Given the description of an element on the screen output the (x, y) to click on. 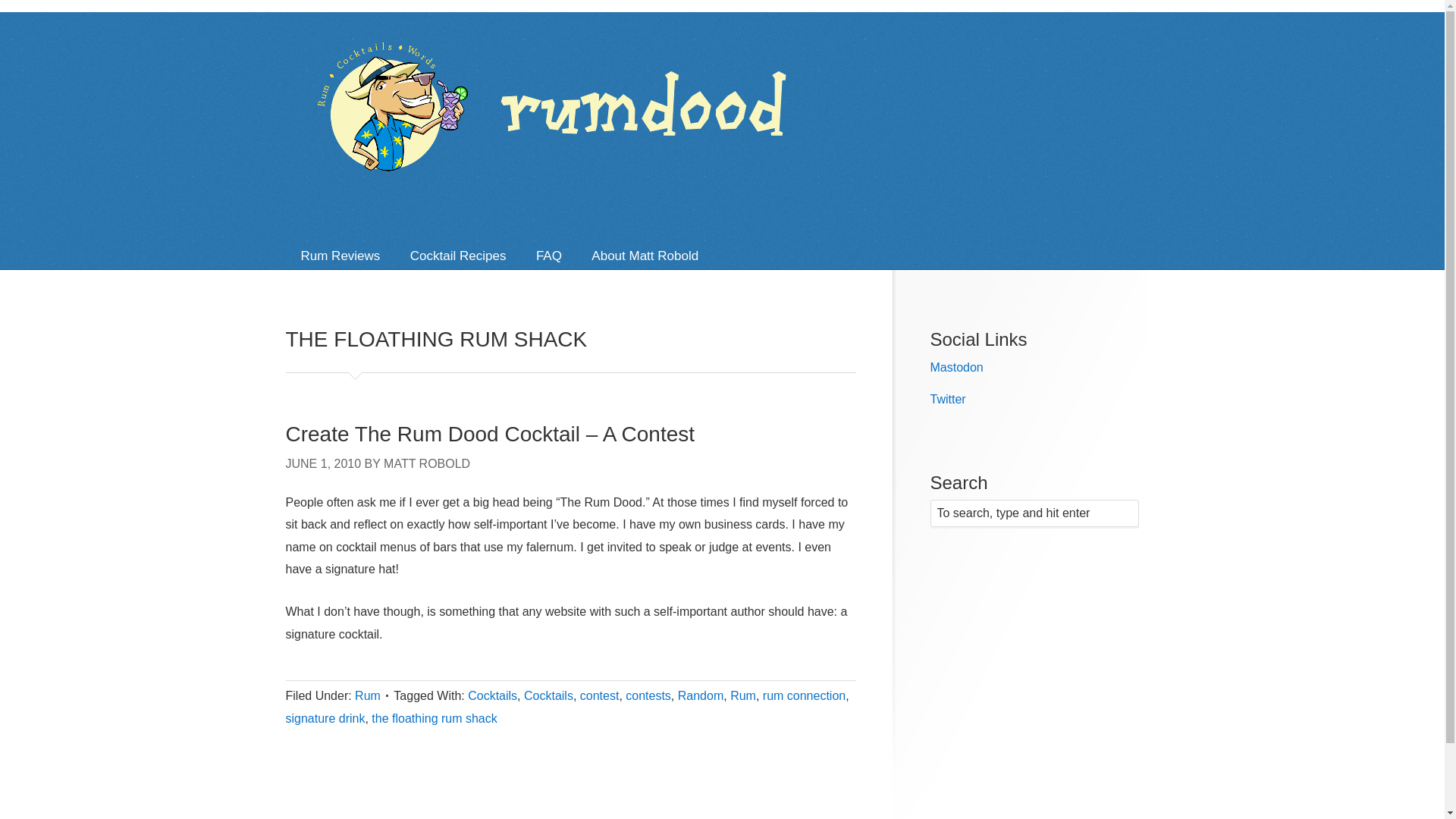
Rum (742, 695)
signature drink (325, 717)
2010-06-01 (323, 463)
rum connection (803, 695)
contests (648, 695)
Rum (367, 695)
contest (599, 695)
Mastodon (956, 367)
Cocktail Recipes (458, 256)
About Matt Robold (644, 256)
